Given the description of an element on the screen output the (x, y) to click on. 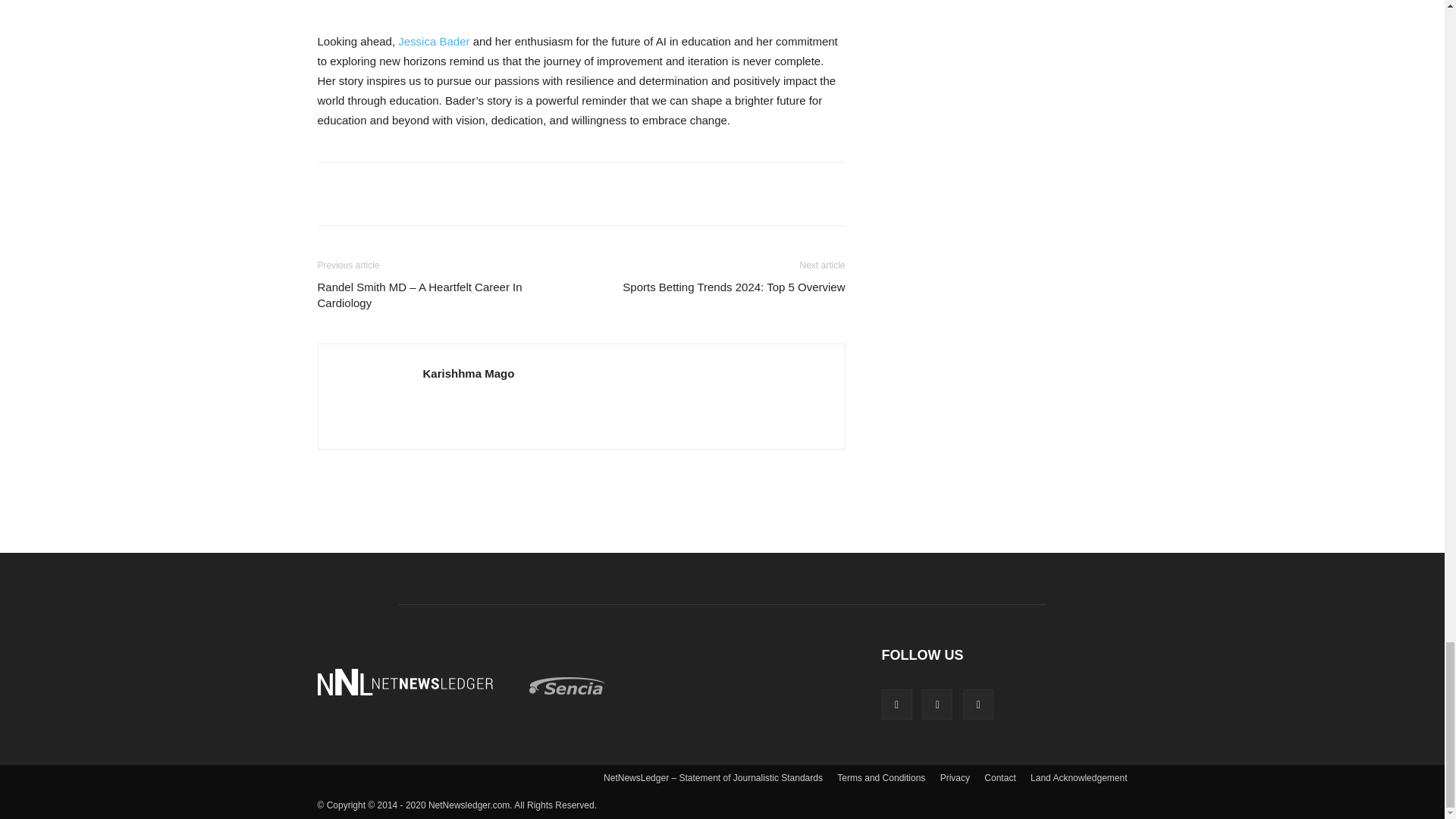
NetNewsLedger (404, 682)
